Given the description of an element on the screen output the (x, y) to click on. 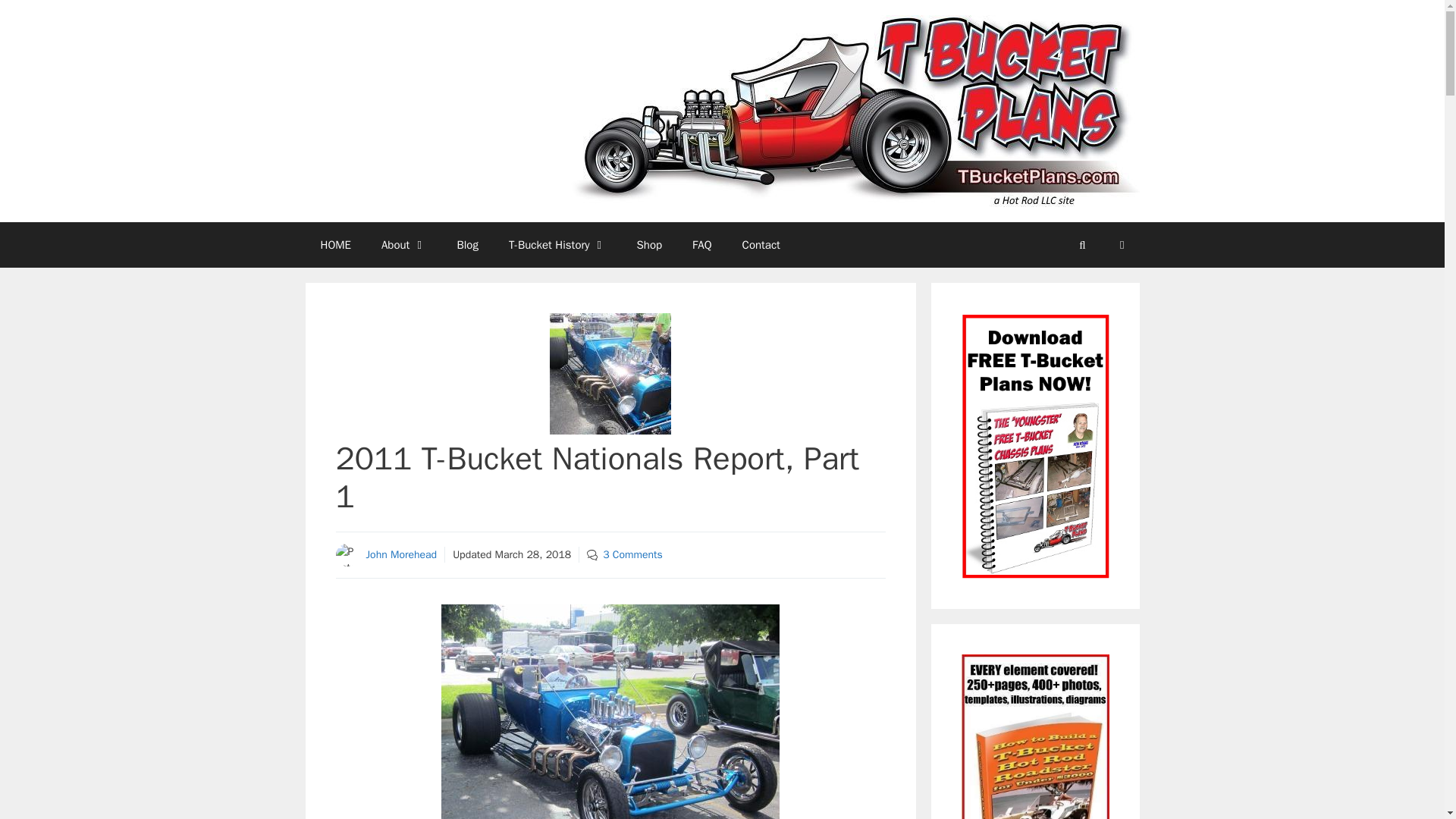
3 Comments (632, 554)
Shop (649, 244)
T-Bucket History (557, 244)
Blog (467, 244)
HOME (334, 244)
Dale Wigfield T-Bucket 02 (609, 711)
Contact (760, 244)
FAQ (701, 244)
About (403, 244)
John Morehead (400, 554)
